Given the description of an element on the screen output the (x, y) to click on. 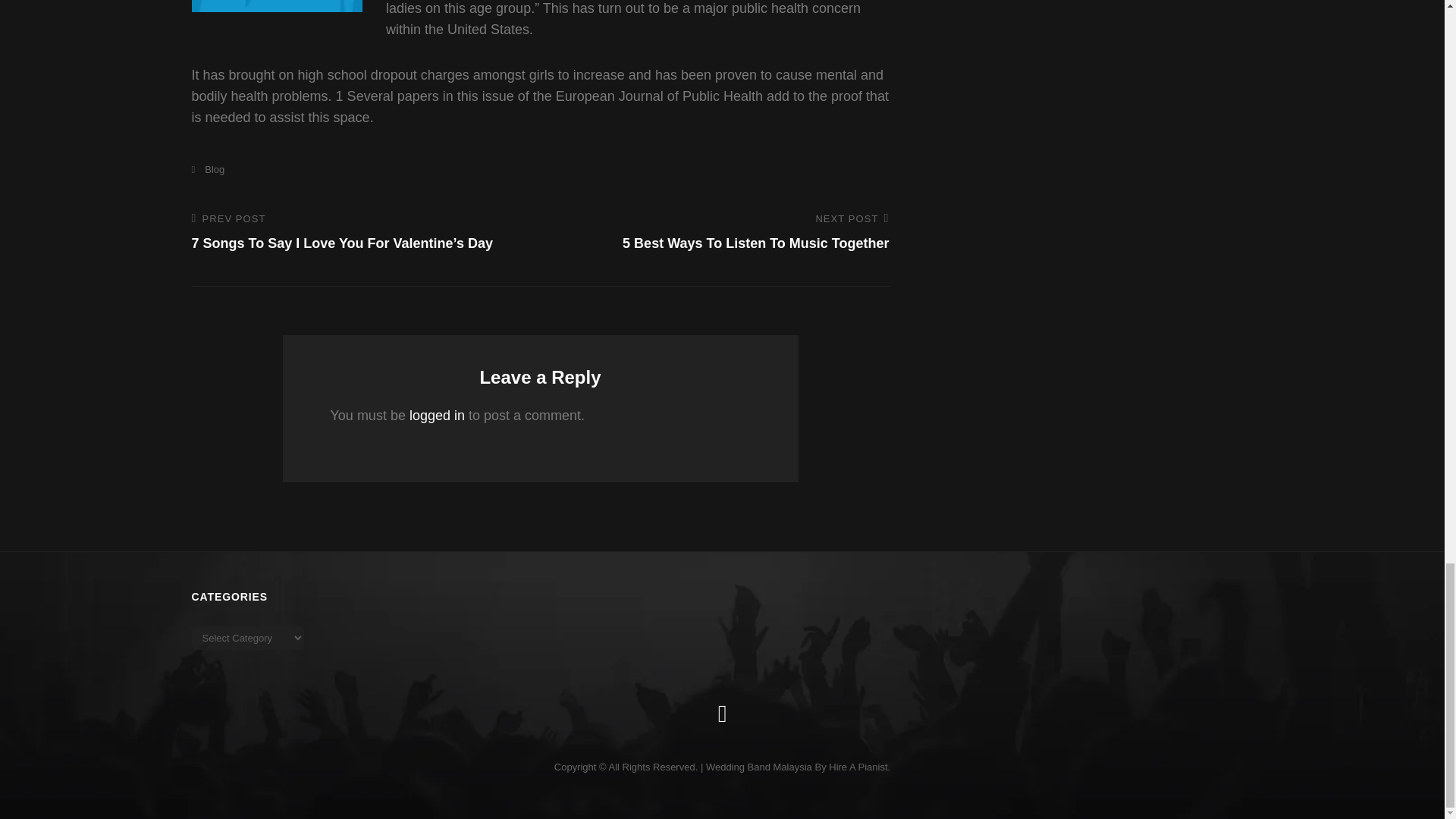
Blog (207, 169)
